Given the description of an element on the screen output the (x, y) to click on. 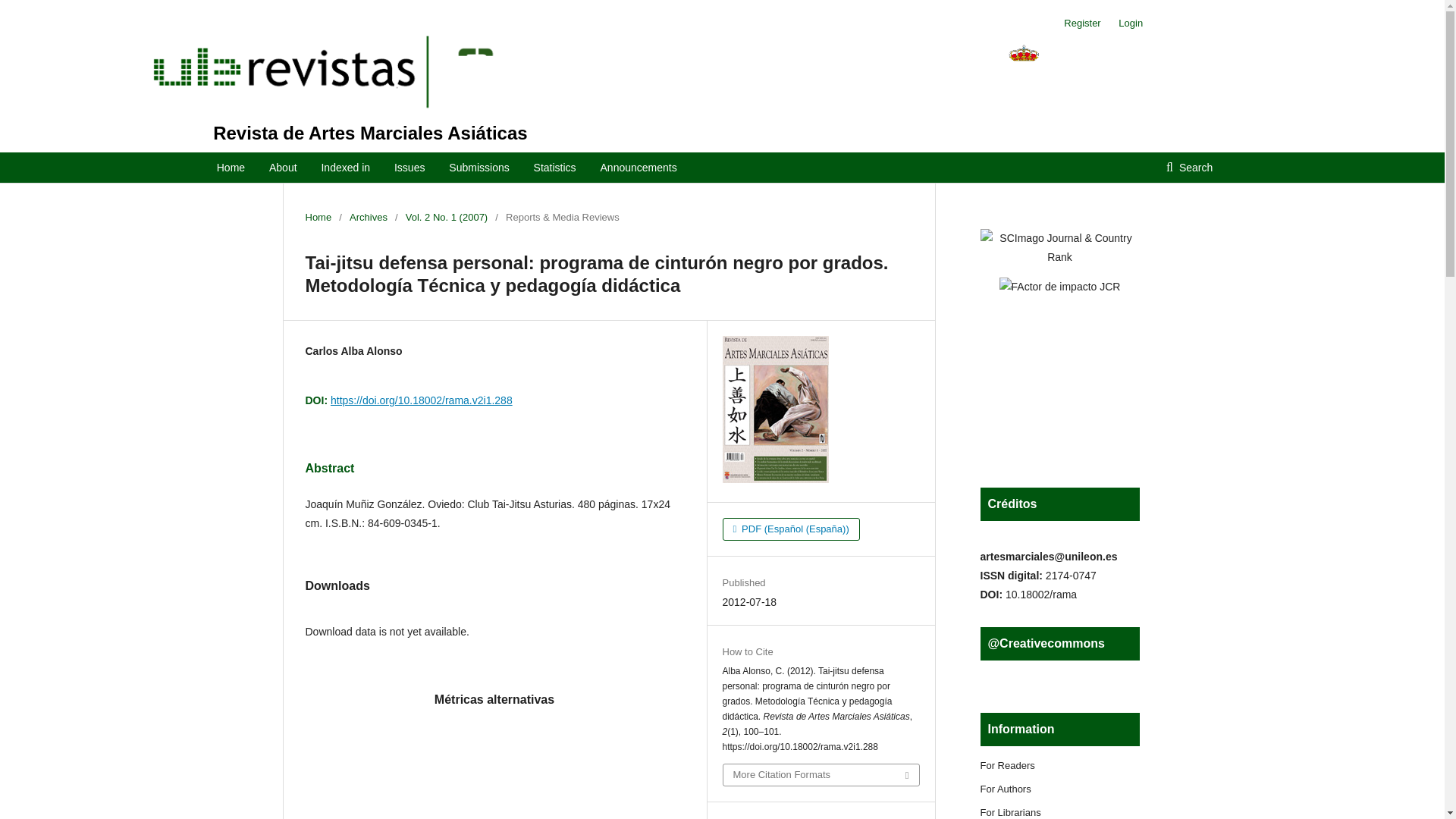
Announcements (638, 167)
Submissions (478, 167)
Home (317, 217)
Login (1126, 23)
Archives (368, 217)
About (283, 167)
Issues (409, 167)
Home (230, 167)
Open Journal Systems (1063, 71)
Open Journal Systems (290, 68)
